Given the description of an element on the screen output the (x, y) to click on. 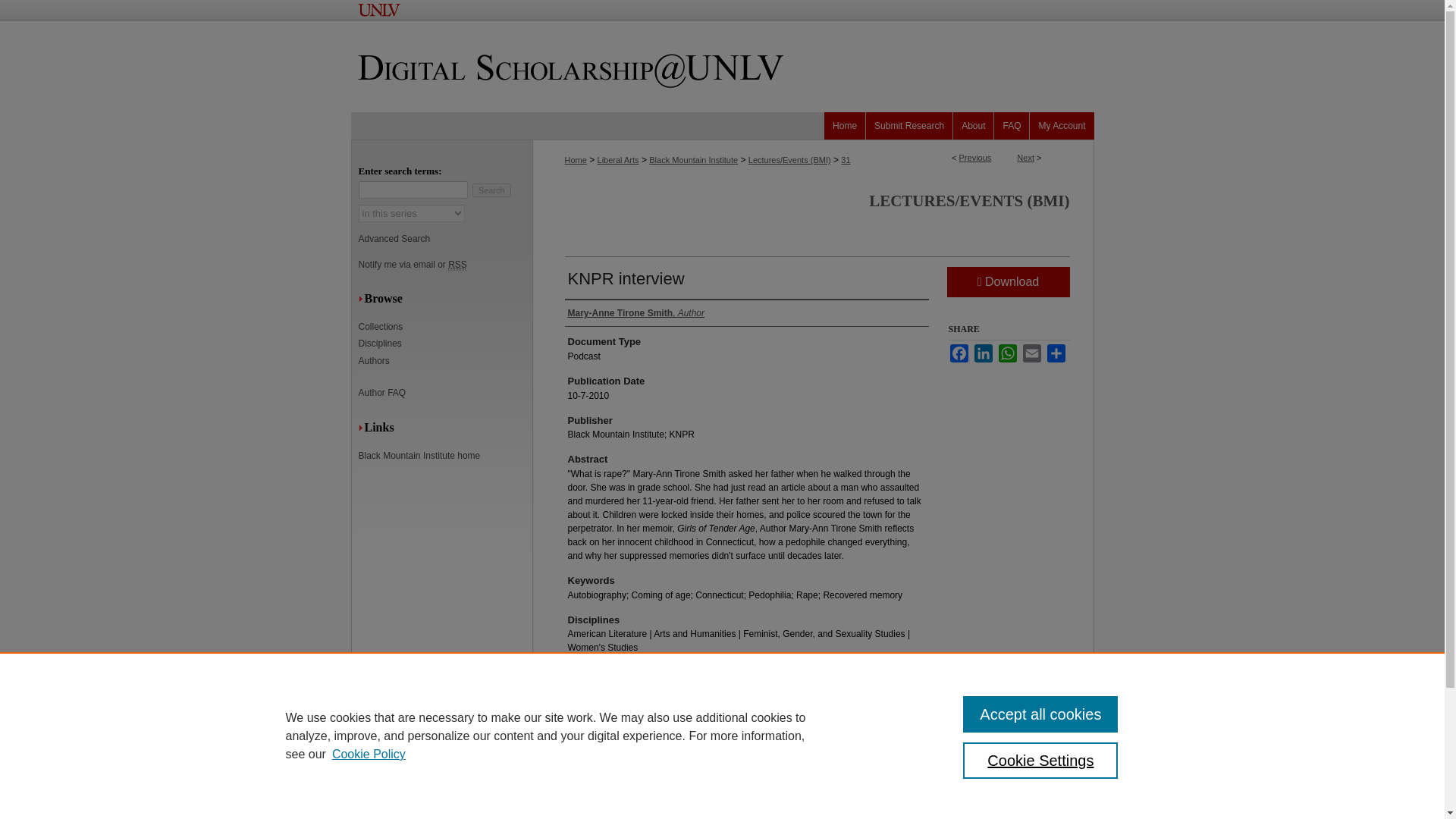
31 (845, 159)
Mary-Anne Tirone Smith, Author (635, 313)
Browse by Disciplines (445, 343)
Download (1007, 281)
Disciplines (445, 343)
Facebook (958, 352)
Home (845, 125)
Notify me via email or RSS (445, 264)
Search (491, 190)
Previous (975, 157)
Search (491, 190)
Email or RSS Notifications (445, 264)
Email (1031, 352)
FAQ (1011, 125)
